Given the description of an element on the screen output the (x, y) to click on. 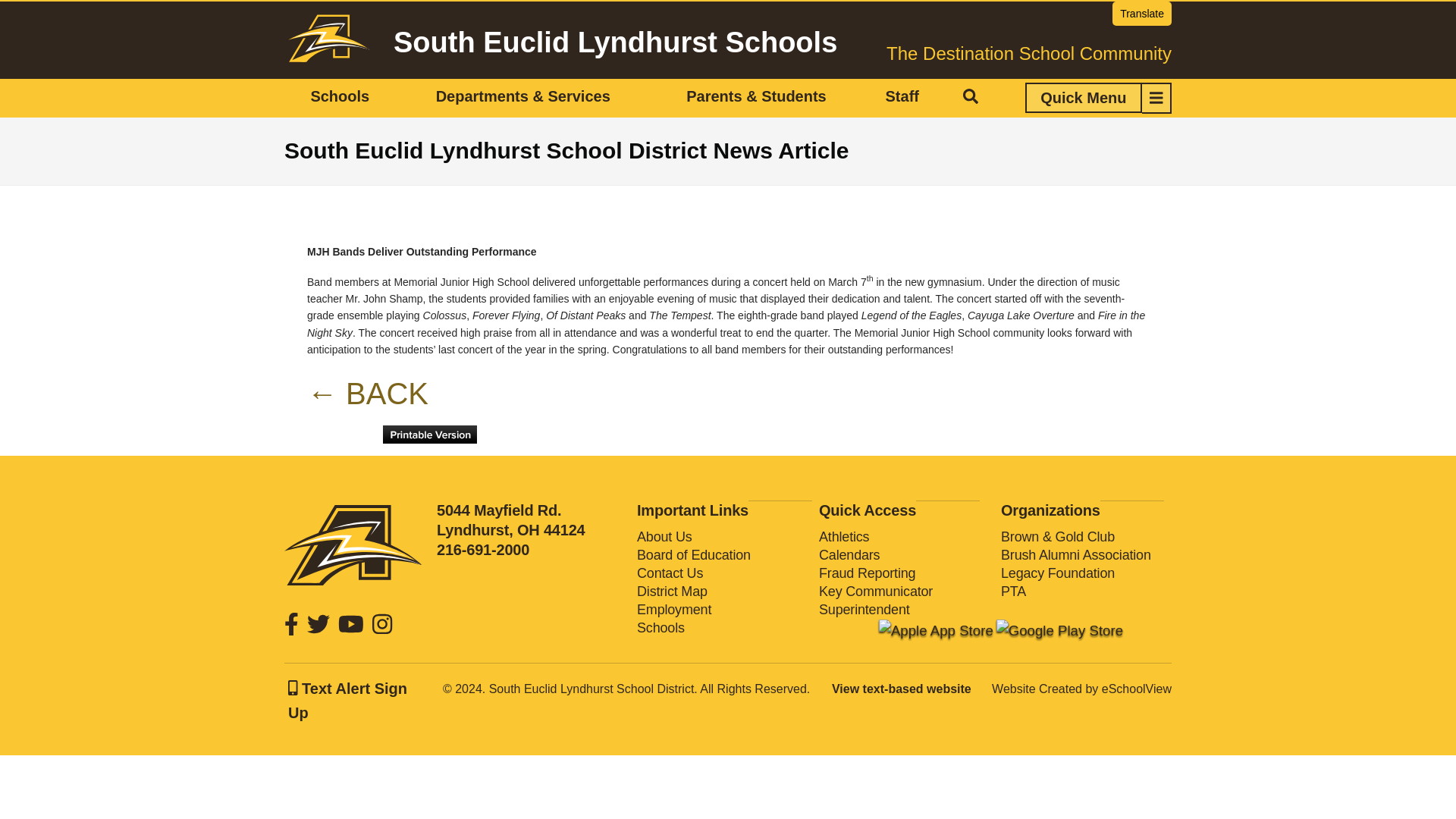
Translate (1142, 13)
South Euclid Lyndhurst Schools (615, 42)
Schools (339, 96)
Staff (901, 96)
